Given the description of an element on the screen output the (x, y) to click on. 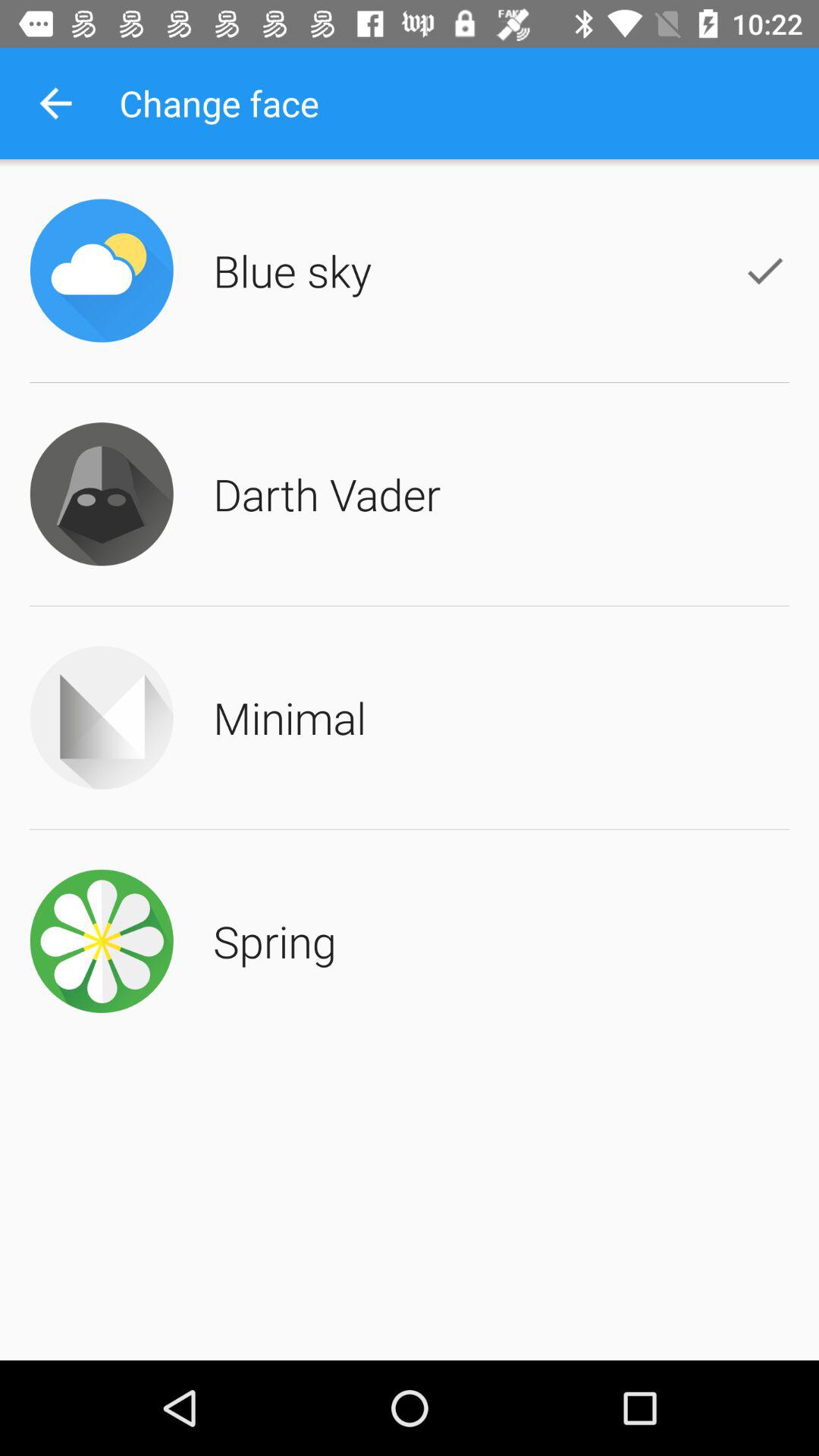
turn off icon above darth vader (292, 270)
